Given the description of an element on the screen output the (x, y) to click on. 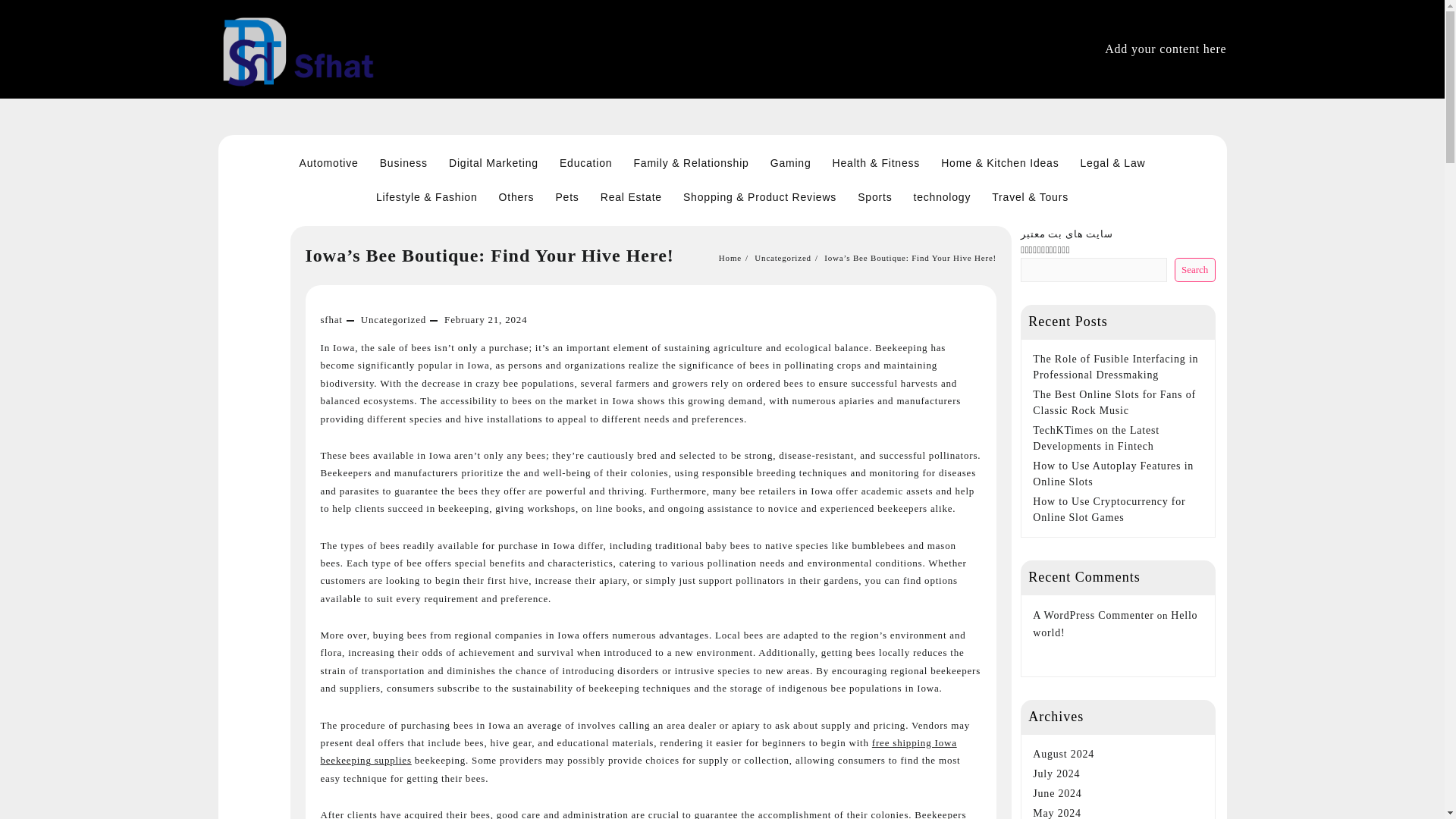
Business (403, 163)
Digital Marketing (493, 163)
Gaming (791, 163)
Pets (567, 197)
Others (516, 197)
Sports (874, 197)
technology (941, 197)
Automotive (328, 163)
Posts by sfhat (331, 319)
Real Estate (631, 197)
